Given the description of an element on the screen output the (x, y) to click on. 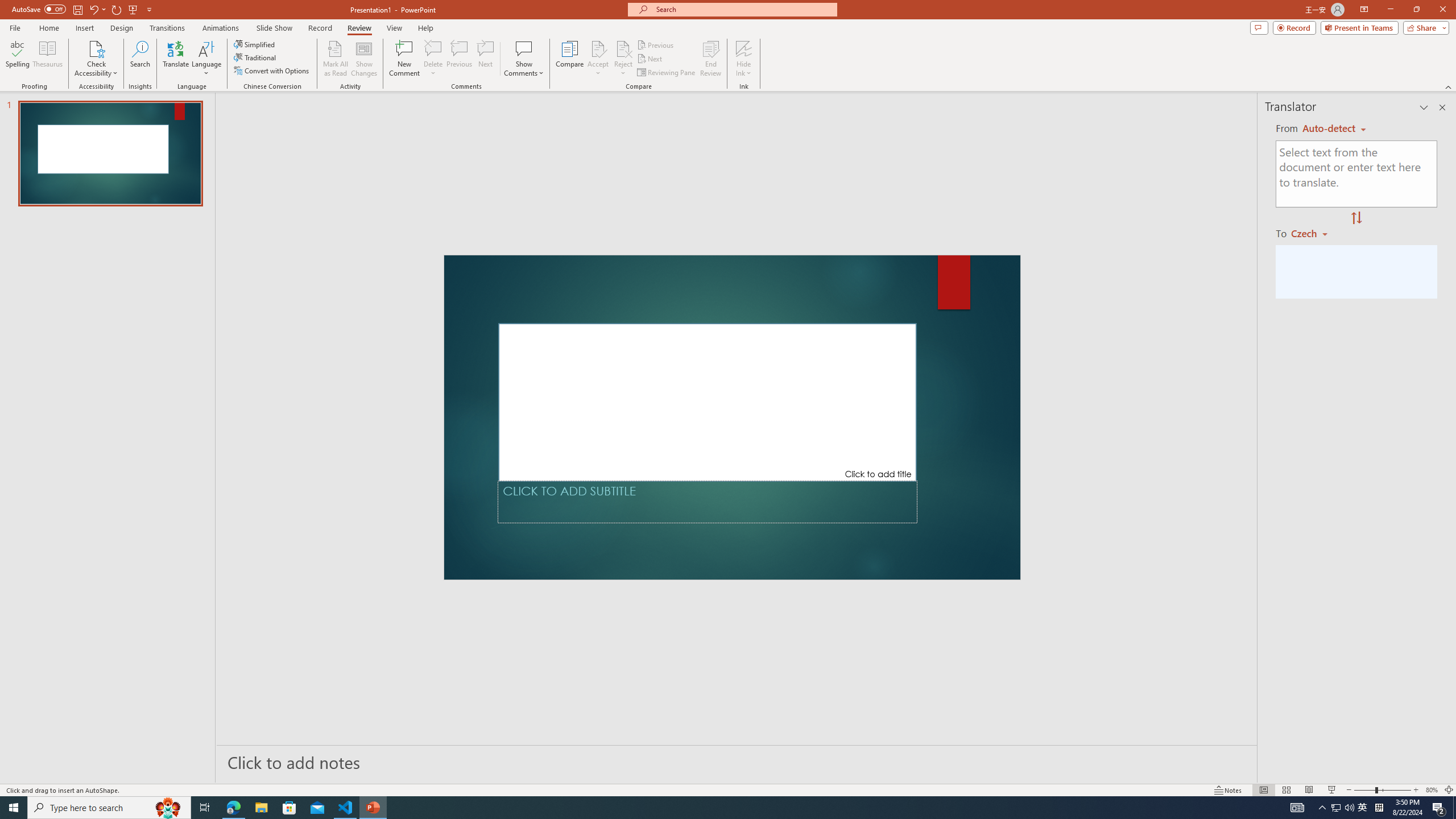
Accept Change (598, 48)
Zoom 80% (1431, 790)
Show Comments (524, 48)
Language (206, 58)
New Comment (403, 58)
Previous (655, 44)
